Given the description of an element on the screen output the (x, y) to click on. 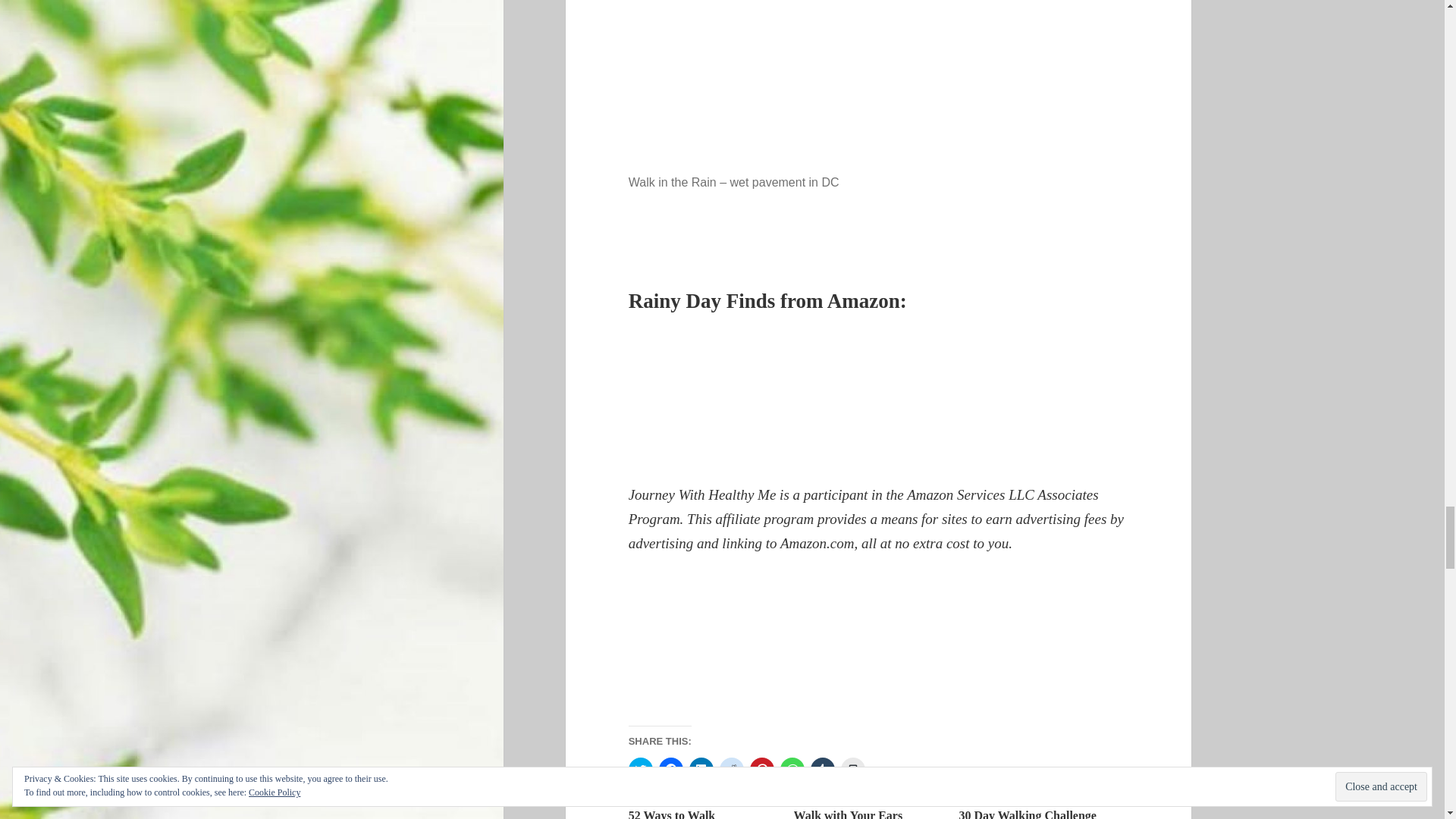
Click to print (852, 768)
Click to share on Twitter (640, 768)
30 Day Walking Challenge (1027, 813)
52 Ways to Walk (672, 813)
Click to share on Facebook (670, 768)
Walk with Your Ears (847, 813)
Click to share on Tumblr (822, 768)
Click to share on WhatsApp (792, 768)
Click to share on Reddit (731, 768)
Click to share on LinkedIn (700, 768)
Click to share on Pinterest (761, 768)
